Given the description of an element on the screen output the (x, y) to click on. 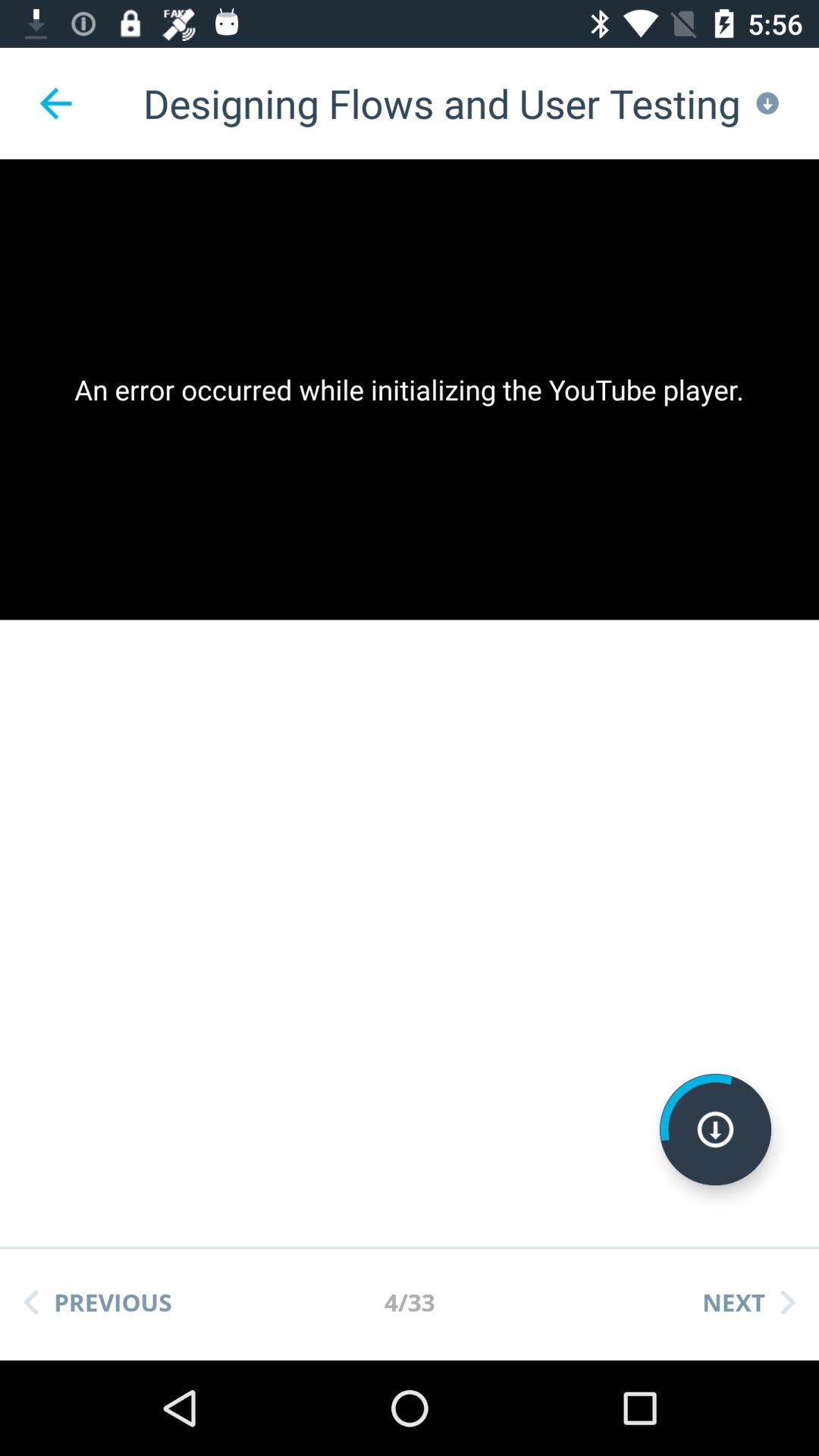
turn on the app below the an error occurred item (97, 1302)
